Given the description of an element on the screen output the (x, y) to click on. 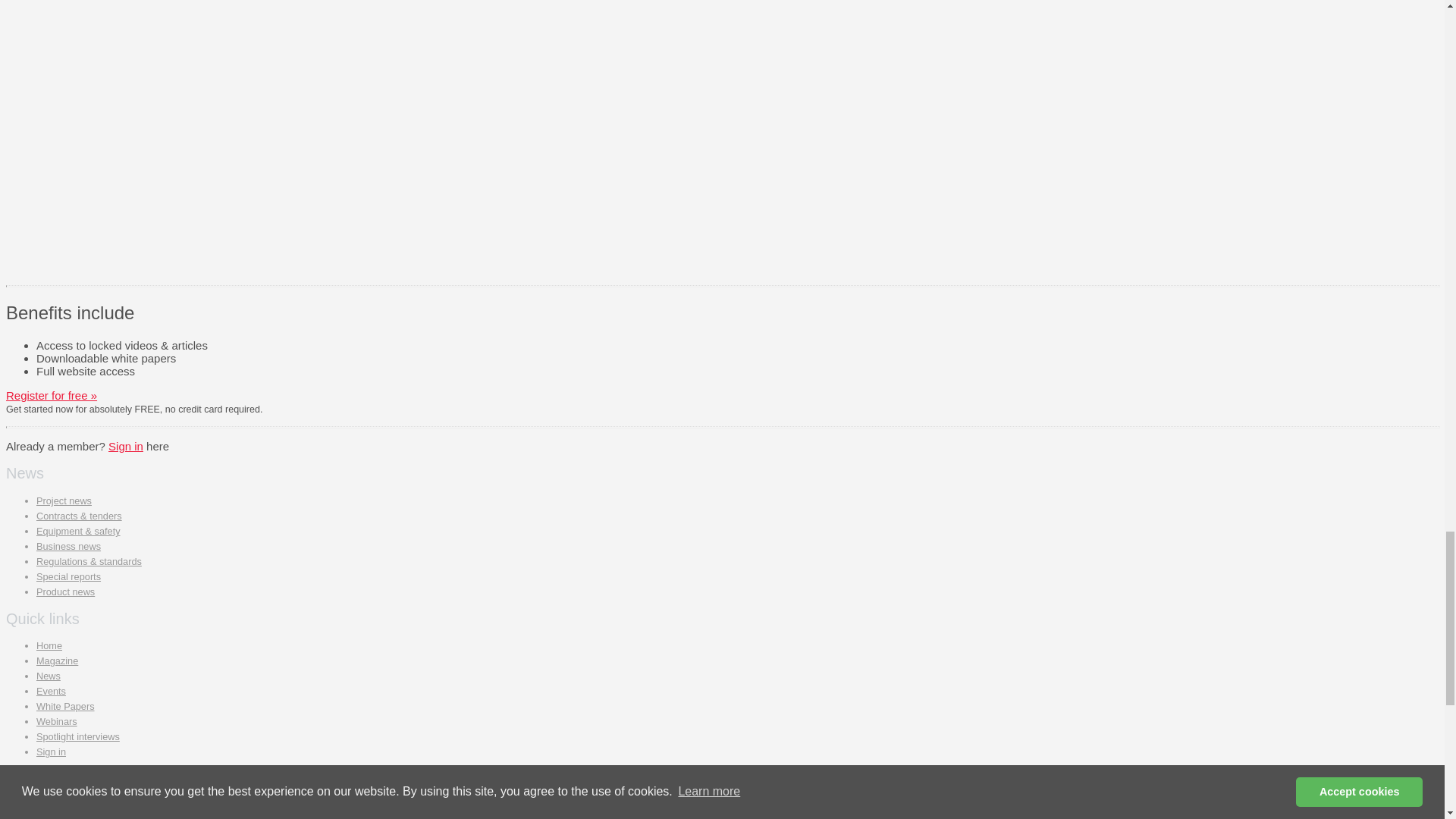
3rd party ad content (774, 175)
3rd party ad content (774, 30)
